Given the description of an element on the screen output the (x, y) to click on. 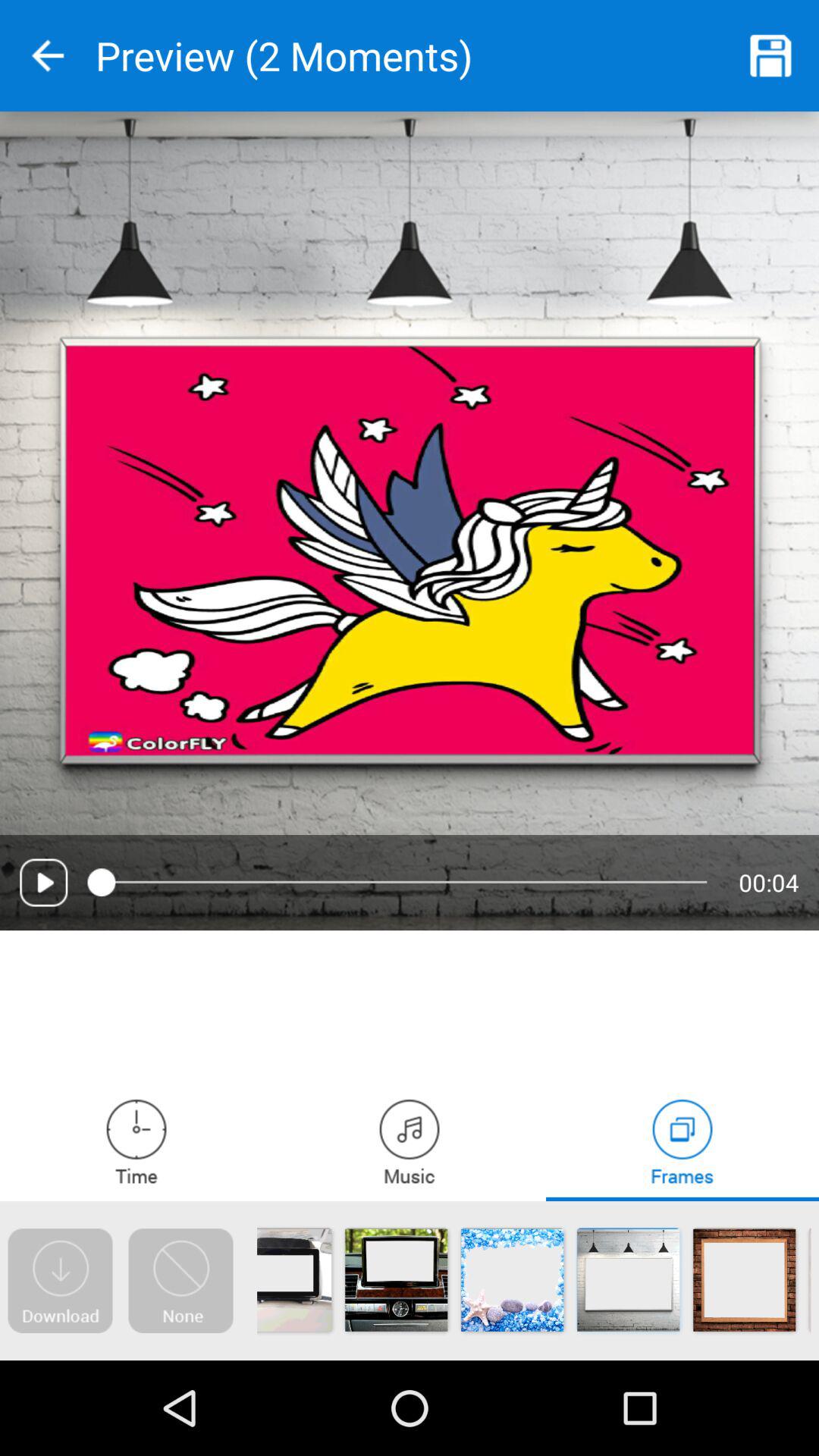
change frame option (682, 1141)
